Given the description of an element on the screen output the (x, y) to click on. 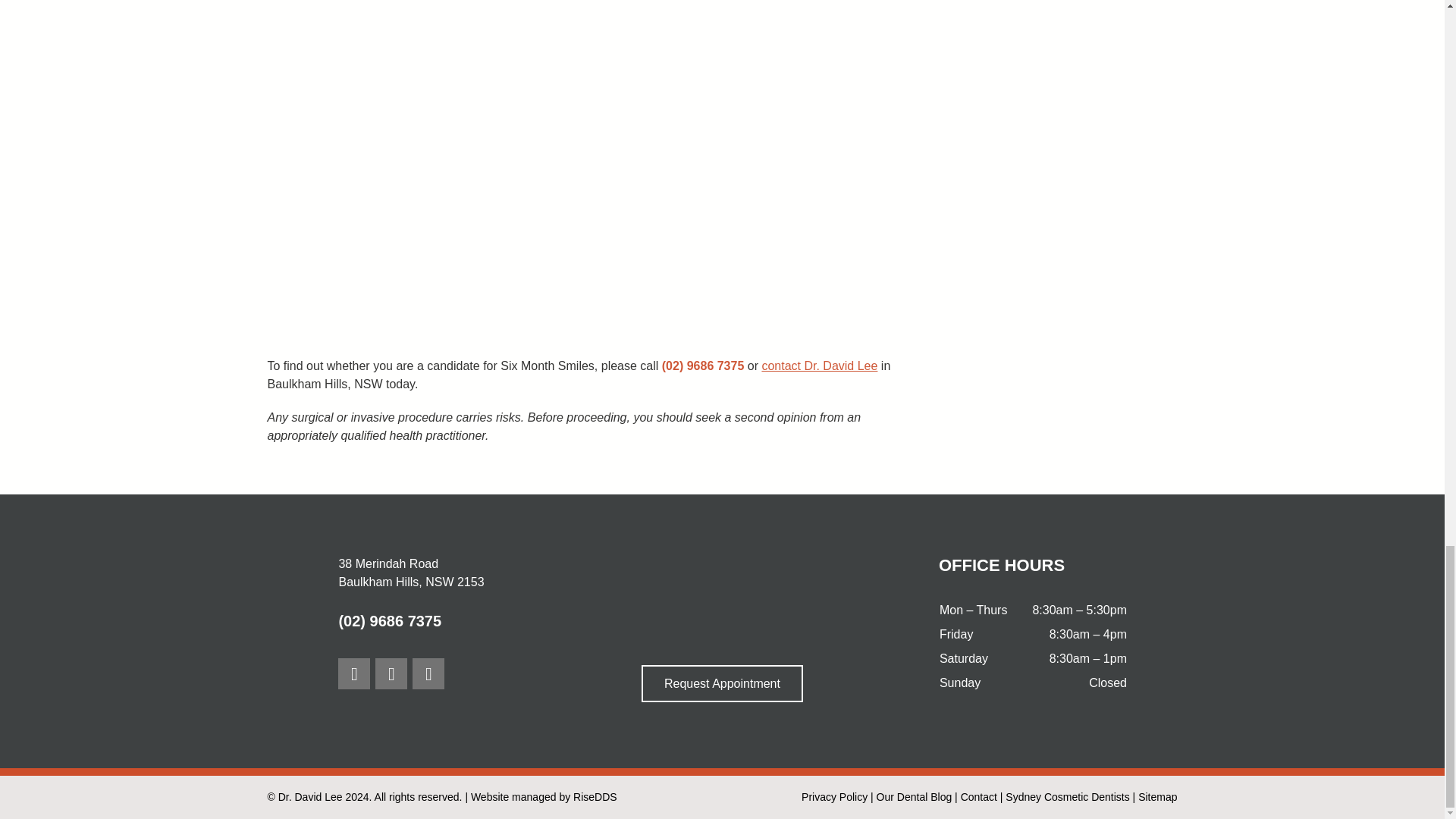
before-6mo2 (419, 263)
before-6mo-pic2 (419, 84)
YouTube (428, 673)
Facebook (751, 263)
Instagram (391, 673)
after-6mo-pic2 (353, 673)
